Given the description of an element on the screen output the (x, y) to click on. 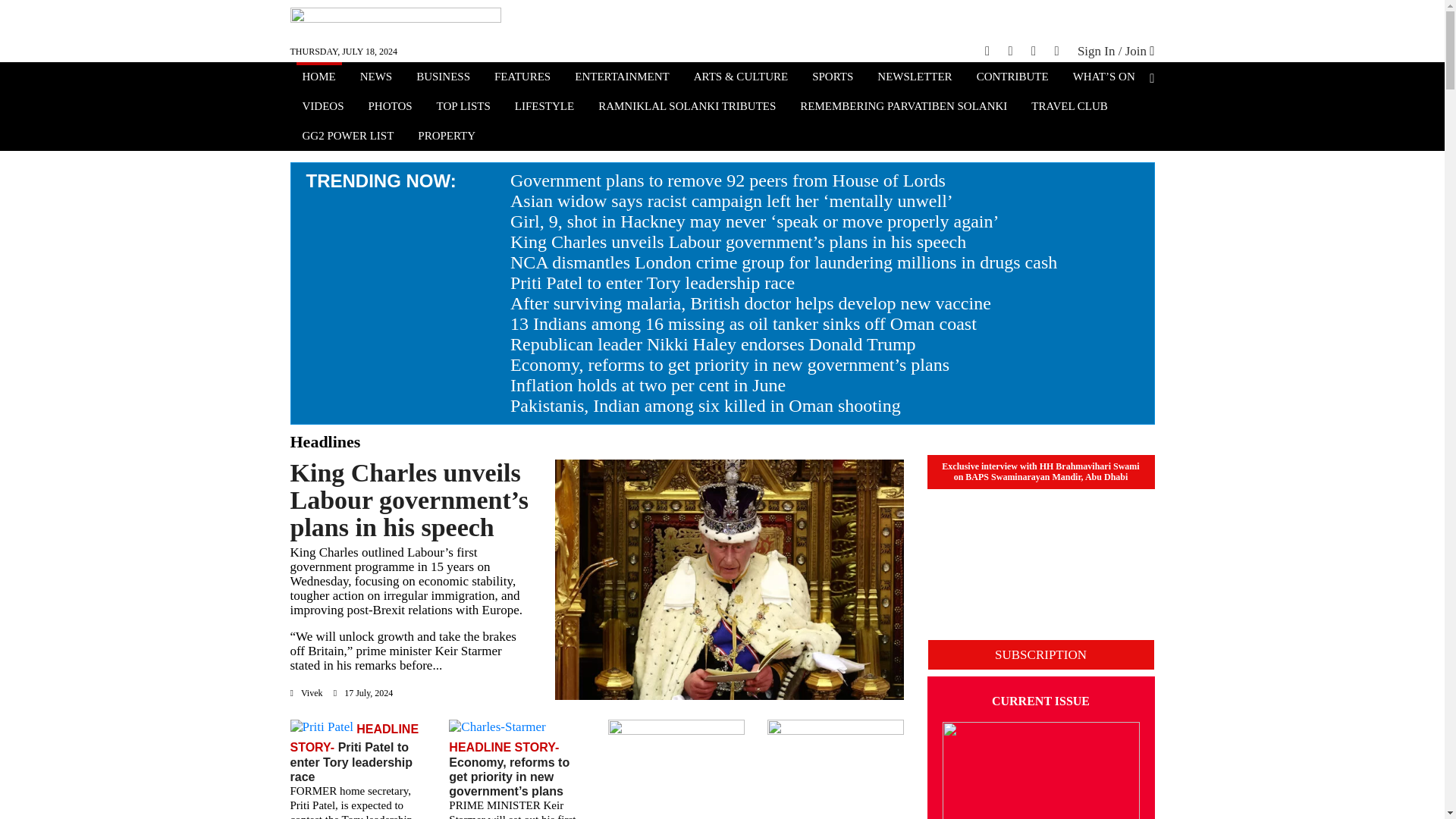
CONTRIBUTE (1012, 78)
VIDEOS (322, 108)
Republican leader Nikki Haley endorses Donald Trump (713, 343)
PROPERTY (446, 137)
LIFESTYLE (543, 108)
FEATURES (521, 78)
BUSINESS (443, 78)
GG2 POWER LIST (346, 137)
NEWSLETTER (914, 78)
SPORTS (832, 78)
HOME (317, 78)
PHOTOS (390, 108)
Priti Patel to enter Tory leadership race (652, 282)
